Given the description of an element on the screen output the (x, y) to click on. 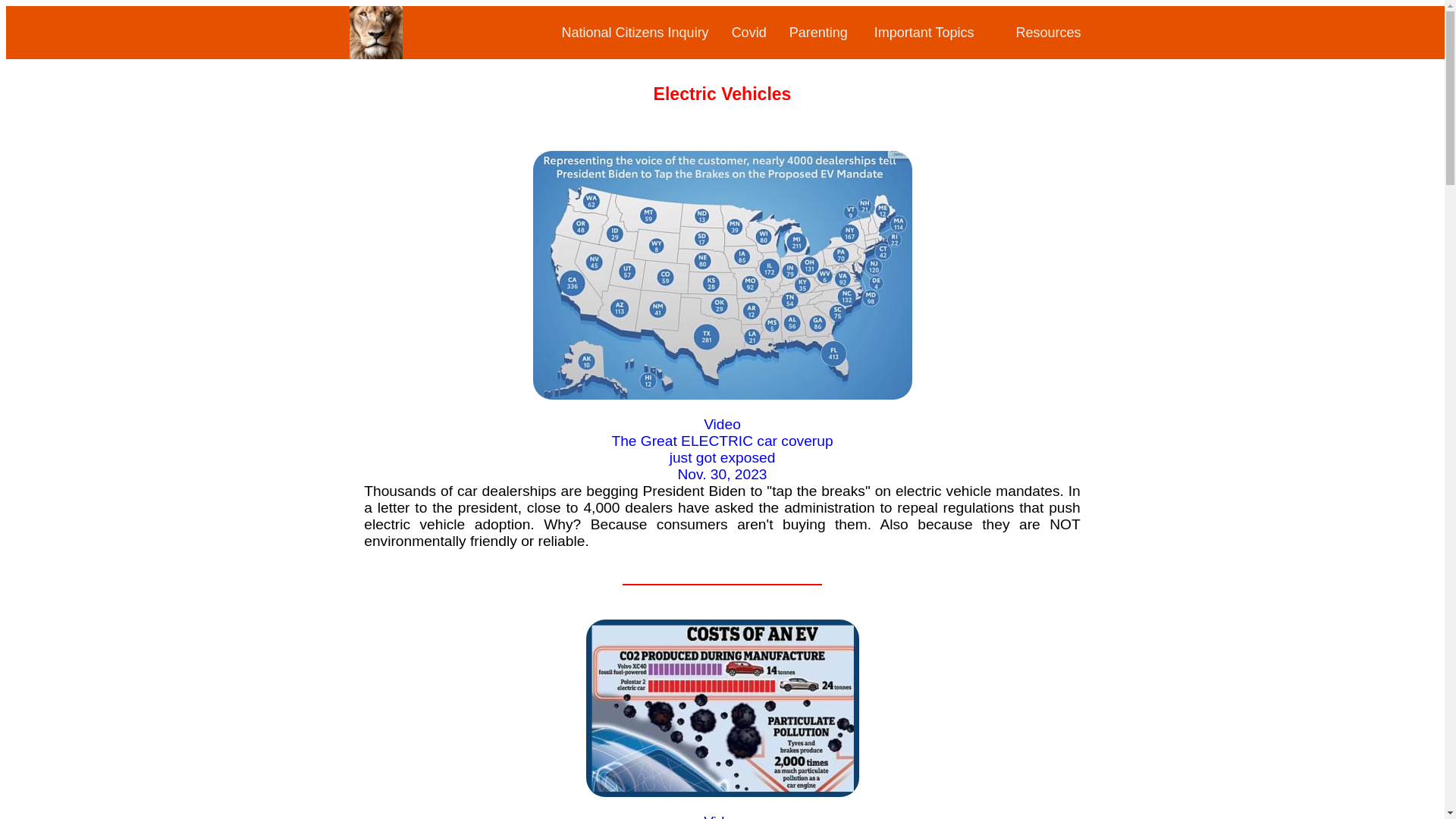
Return to the Home Page (375, 51)
National Citizens Inquiry (635, 32)
 Important Topics  (924, 32)
Covid (748, 32)
Parenting (818, 32)
